Given the description of an element on the screen output the (x, y) to click on. 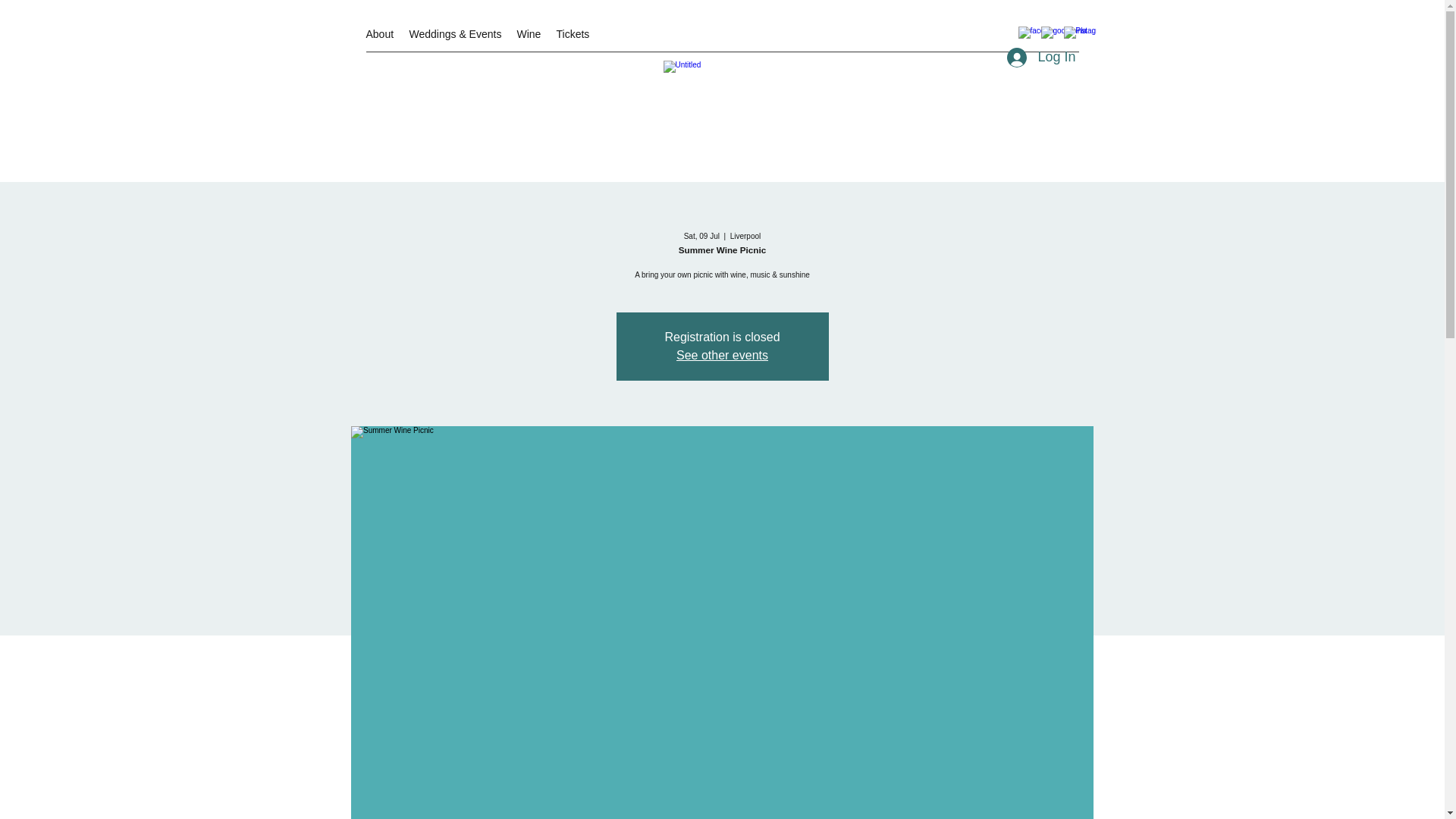
Wine (528, 33)
Tickets (572, 33)
Log In (1040, 57)
See other events (722, 354)
About (379, 33)
